Given the description of an element on the screen output the (x, y) to click on. 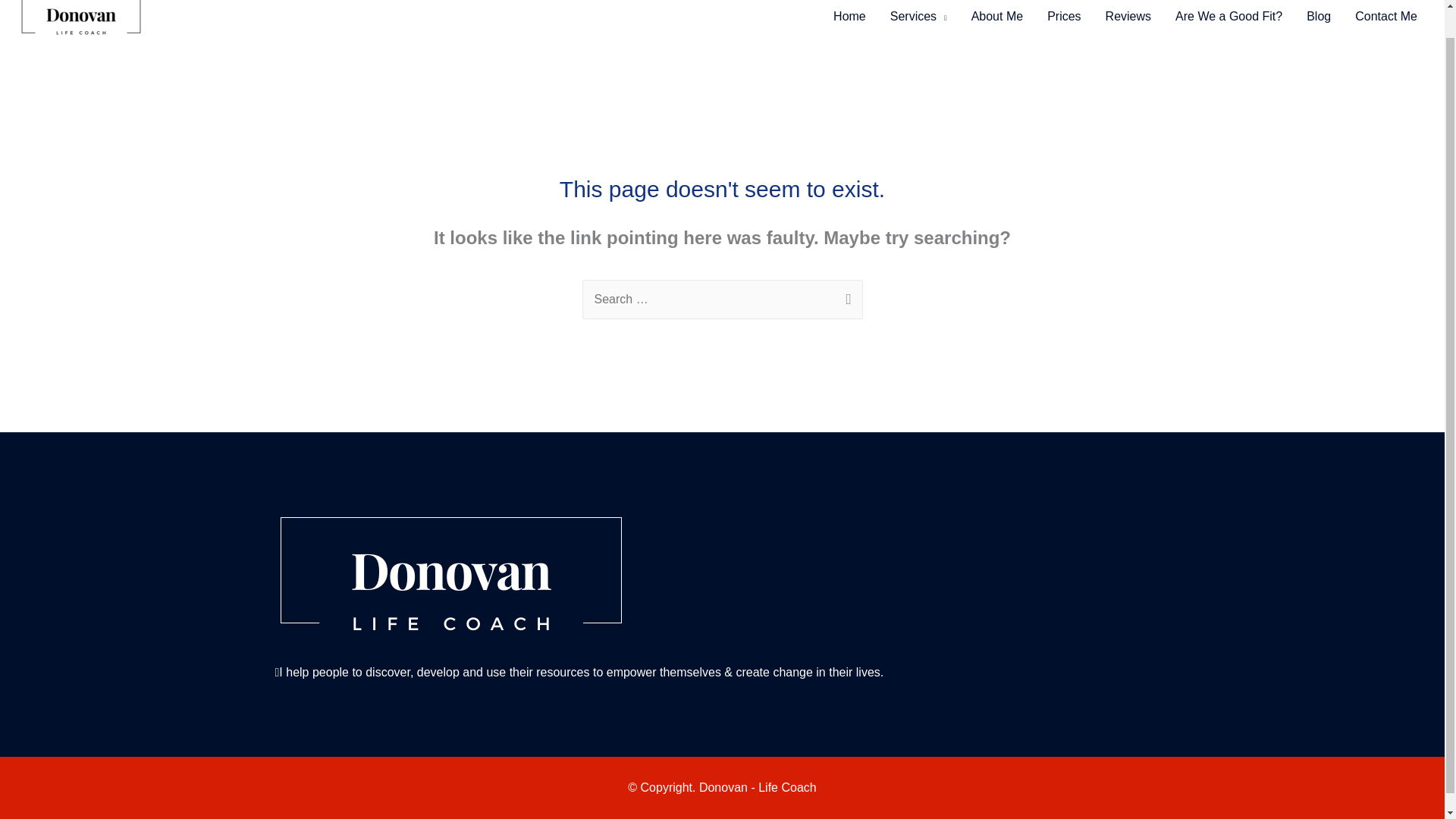
Services (918, 21)
Reviews (1128, 21)
Home (849, 21)
Prices (1064, 21)
Blog (1318, 21)
Are We a Good Fit? (1228, 21)
Contact Me (1385, 21)
About Me (997, 21)
